Given the description of an element on the screen output the (x, y) to click on. 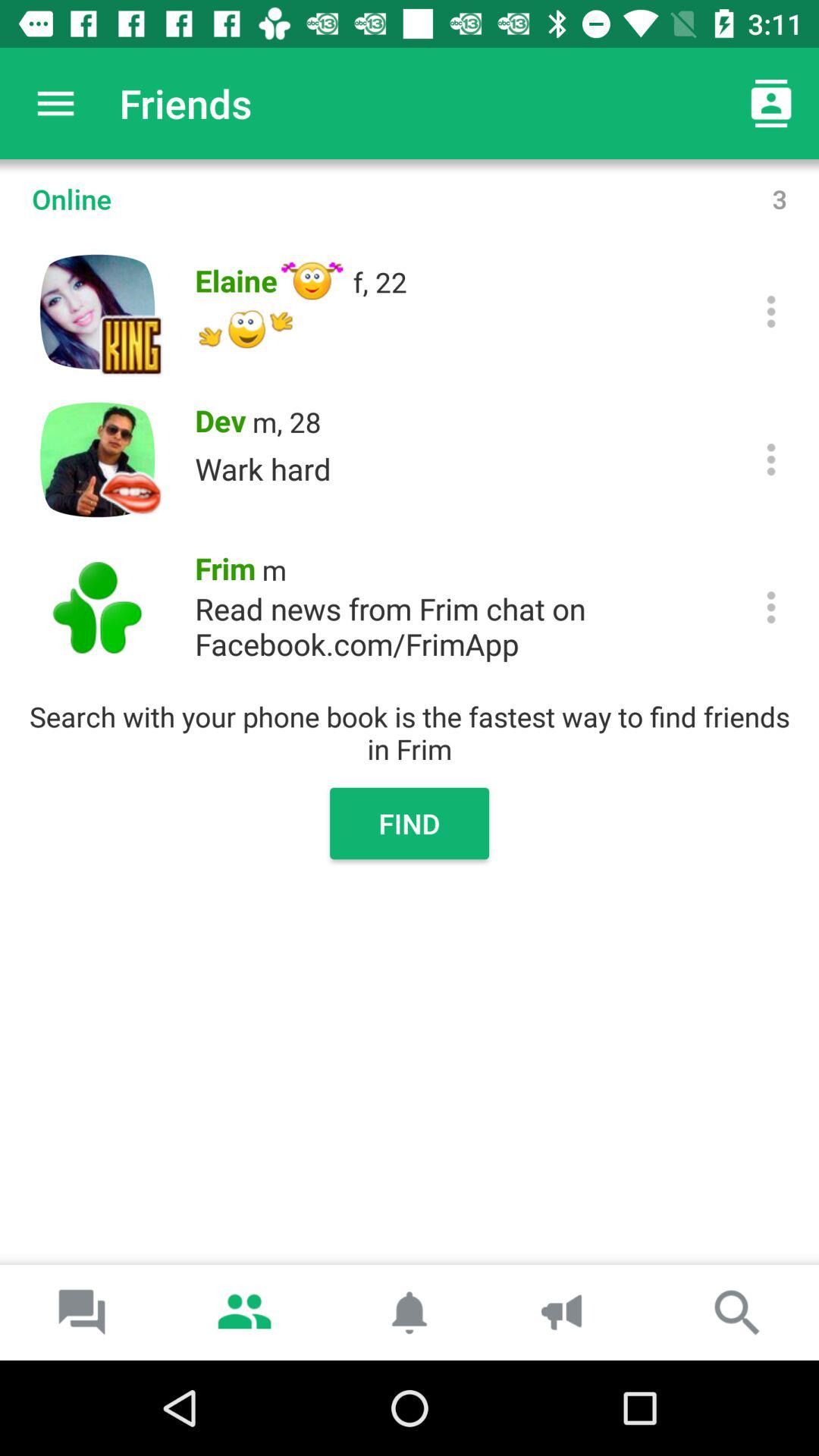
other option (771, 607)
